Given the description of an element on the screen output the (x, y) to click on. 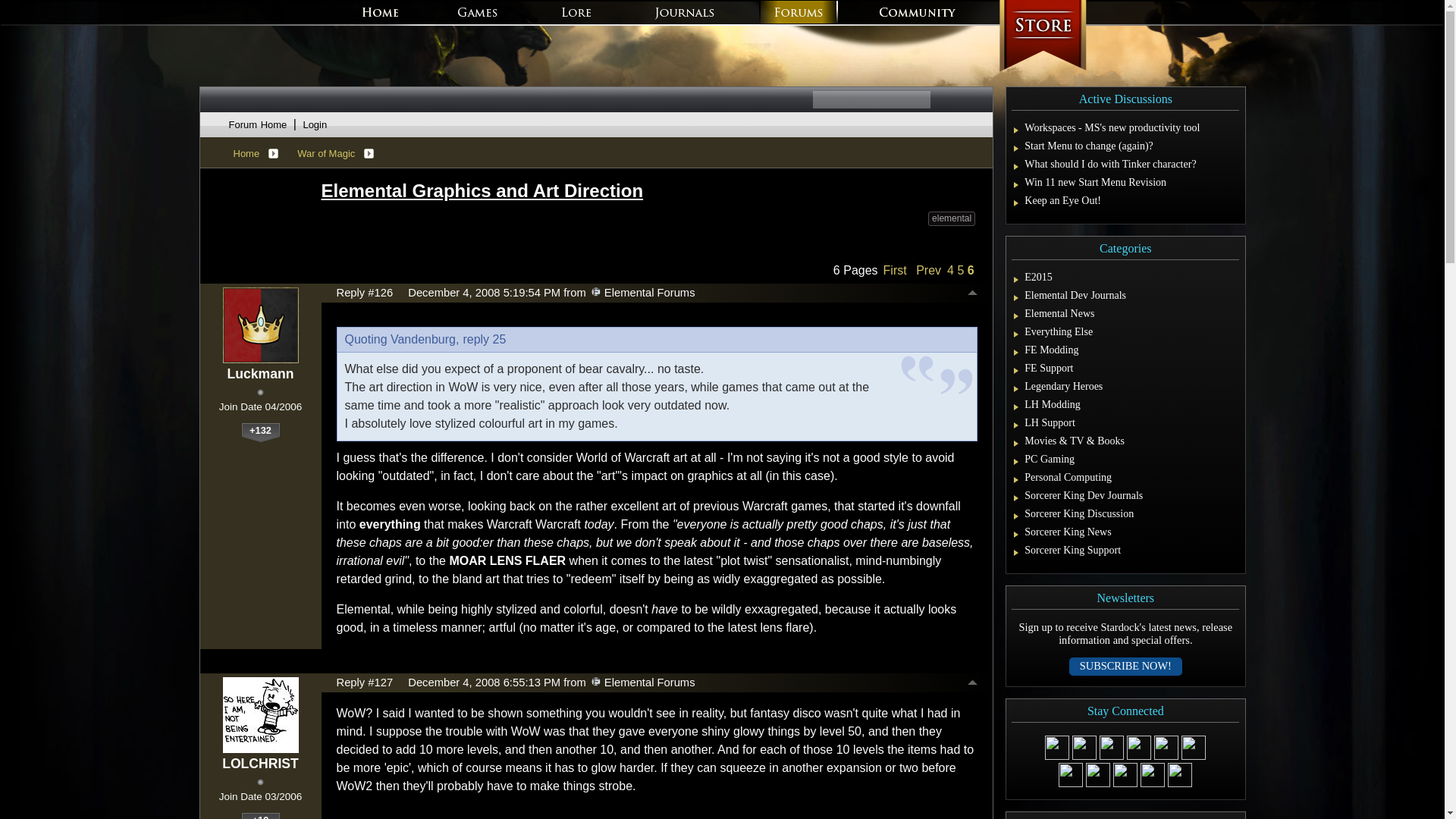
View Luckmann's Karma (260, 433)
Scroll to Top (972, 294)
Elemental Forums (595, 291)
Click to view original post (648, 190)
Click user name to view more options. (260, 374)
View LOLCHRIST's Karma (260, 816)
Rank: 1 (260, 781)
Rank: 1 (260, 392)
Elemental Forums (595, 681)
Click user name to view more options. (260, 763)
